Given the description of an element on the screen output the (x, y) to click on. 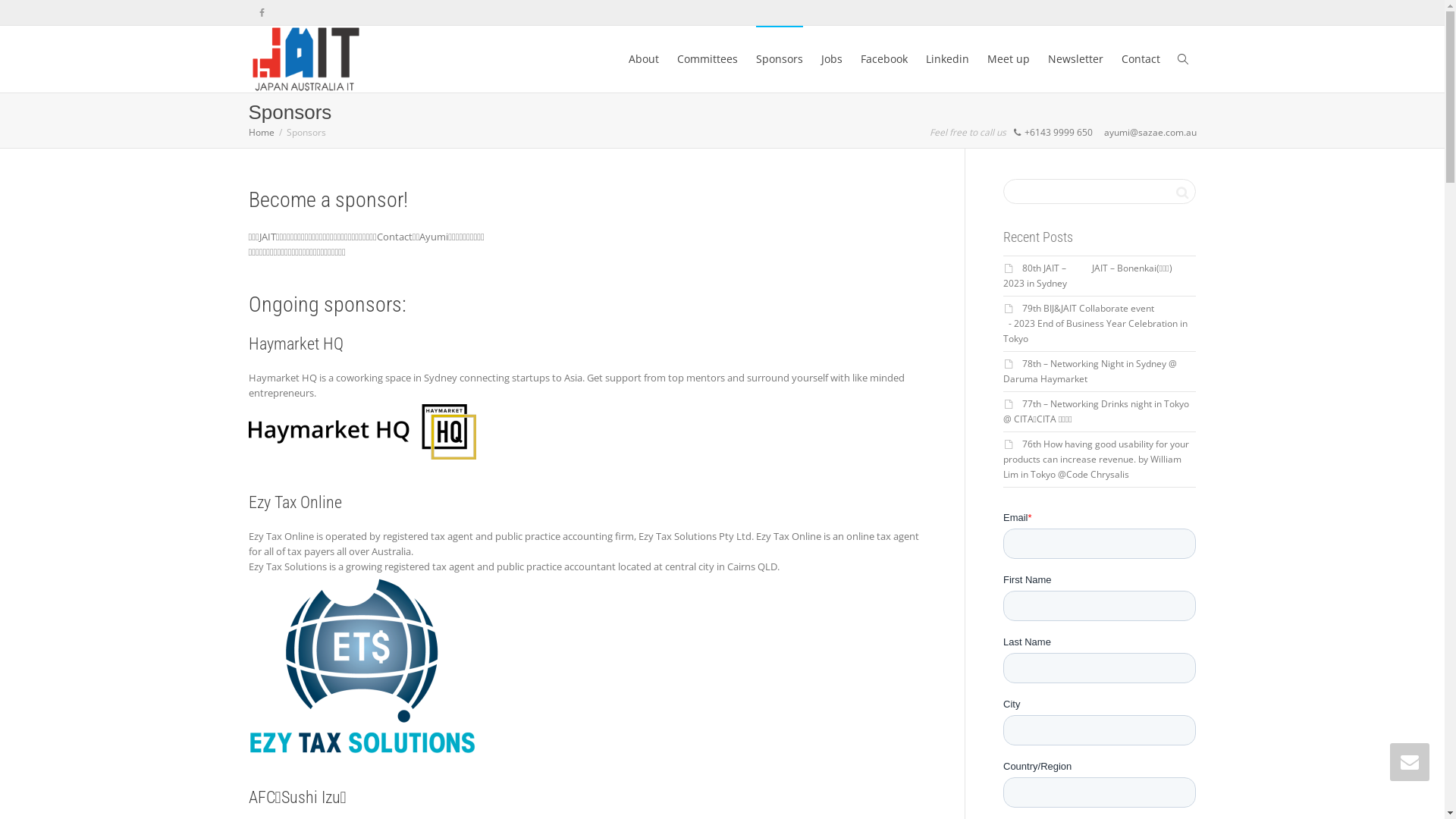
Search Element type: text (1181, 192)
Home Element type: text (261, 131)
About Element type: text (642, 58)
JAIT(Japan Australia Information Technology) Group Element type: hover (306, 58)
Sponsors Element type: text (778, 58)
Linkedin Element type: text (946, 58)
Haymarket HQ Element type: text (295, 343)
Ezy Tax Online Element type: text (295, 501)
Jobs Element type: text (830, 58)
Meet up Element type: text (1008, 58)
Facebook Element type: text (882, 58)
Committees Element type: text (706, 58)
Contact Element type: text (1139, 58)
Newsletter Element type: text (1075, 58)
